Given the description of an element on the screen output the (x, y) to click on. 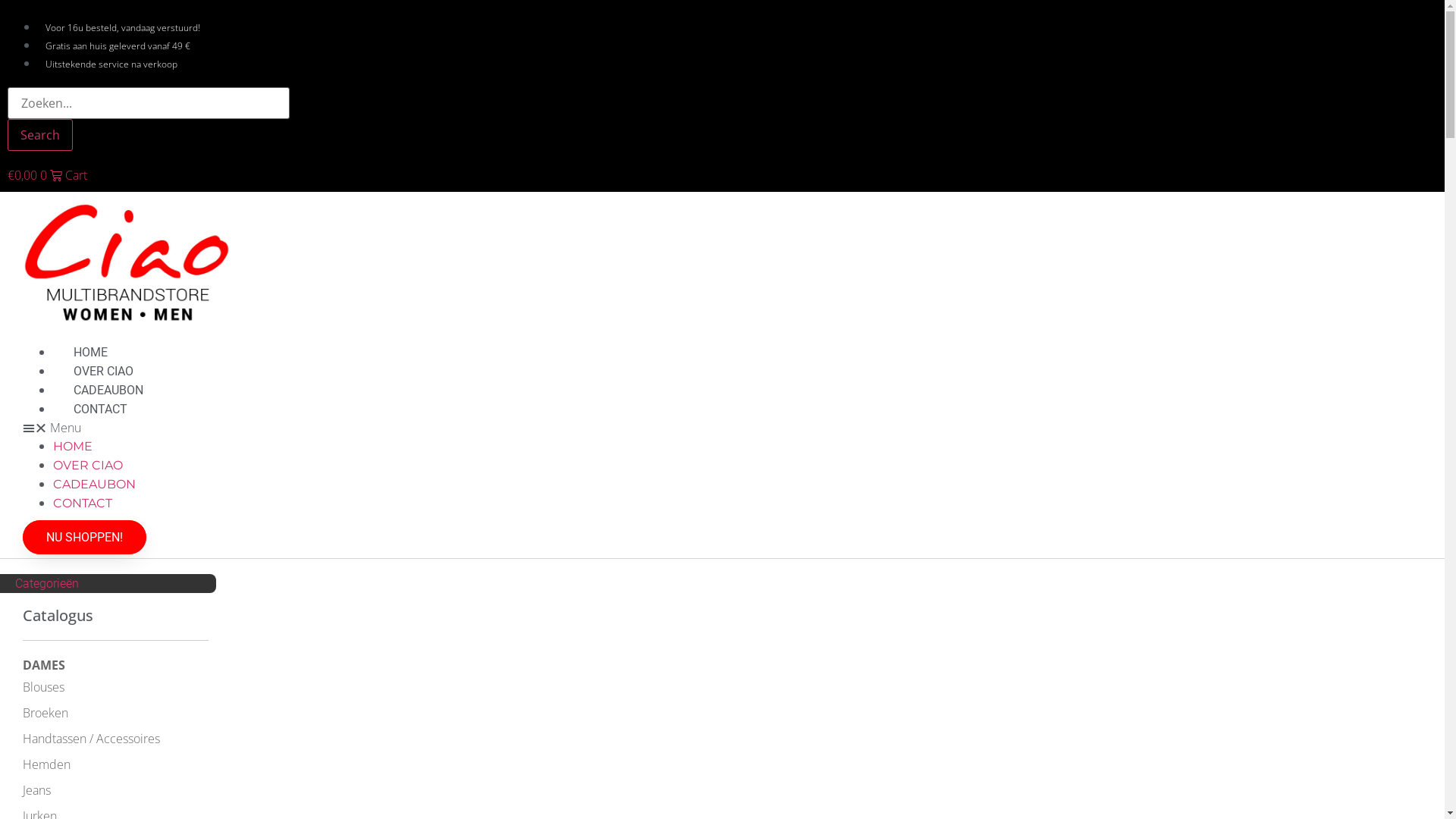
OVER CIAO Element type: text (103, 371)
HOME Element type: text (90, 352)
CADEAUBON Element type: text (94, 483)
Broeken Element type: text (45, 712)
Hemden Element type: text (46, 764)
NU SHOPPEN! Element type: text (84, 537)
Blouses Element type: text (43, 686)
HOME Element type: text (72, 446)
Search Element type: text (39, 134)
CONTACT Element type: text (100, 408)
Search Element type: hover (148, 103)
OVER CIAO Element type: text (87, 465)
Handtassen / Accessoires Element type: text (91, 738)
Jeans Element type: text (36, 790)
CONTACT Element type: text (82, 502)
CADEAUBON Element type: text (108, 389)
DAMES Element type: text (43, 664)
